Given the description of an element on the screen output the (x, y) to click on. 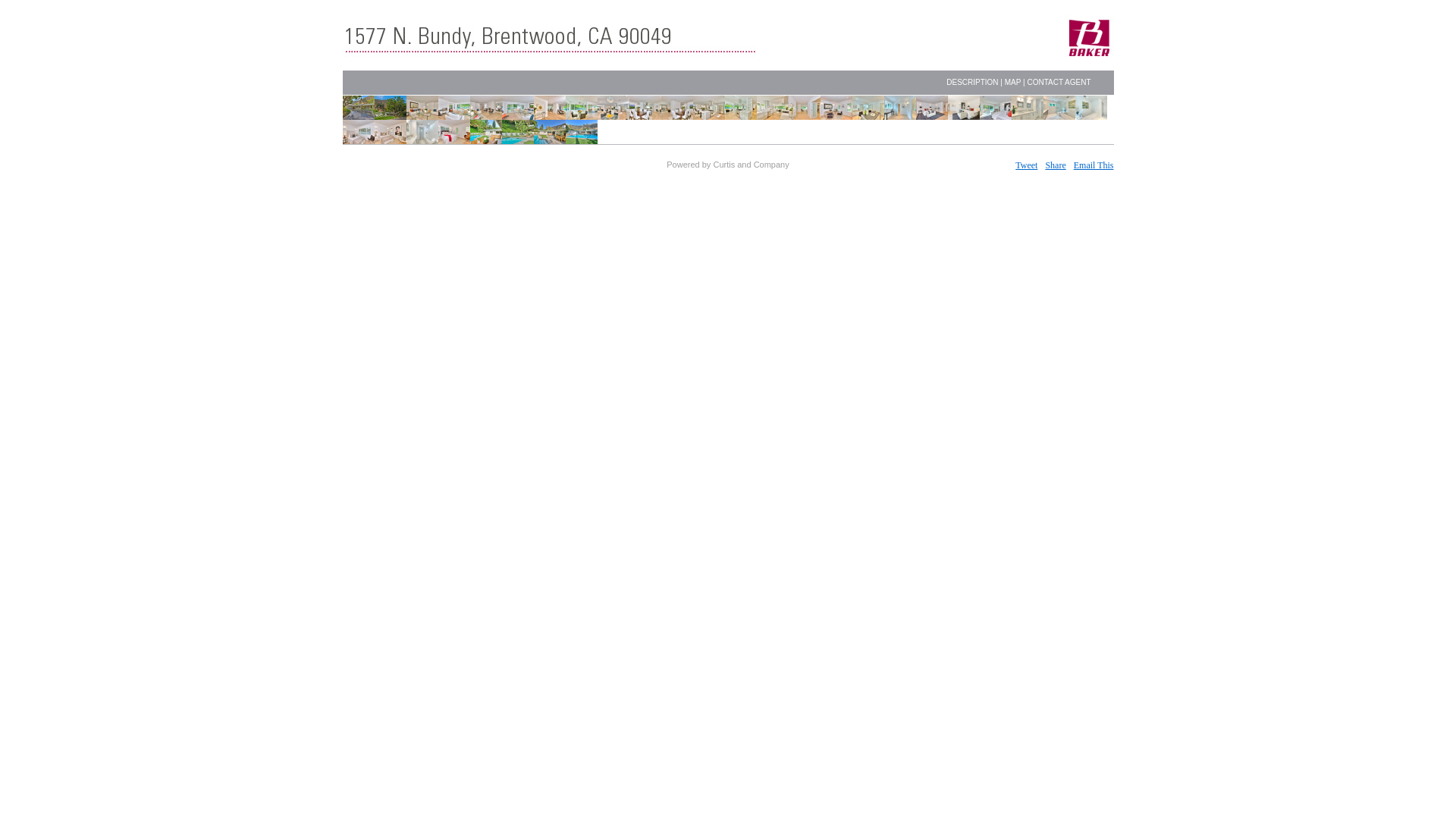
Share Element type: text (1054, 165)
CONTACT AGENT Element type: text (1058, 82)
MAP Element type: text (1012, 82)
DESCRIPTION Element type: text (971, 82)
Email This Element type: text (1093, 165)
Curtis and Company Element type: text (750, 164)
Tweet Element type: text (1026, 165)
